Given the description of an element on the screen output the (x, y) to click on. 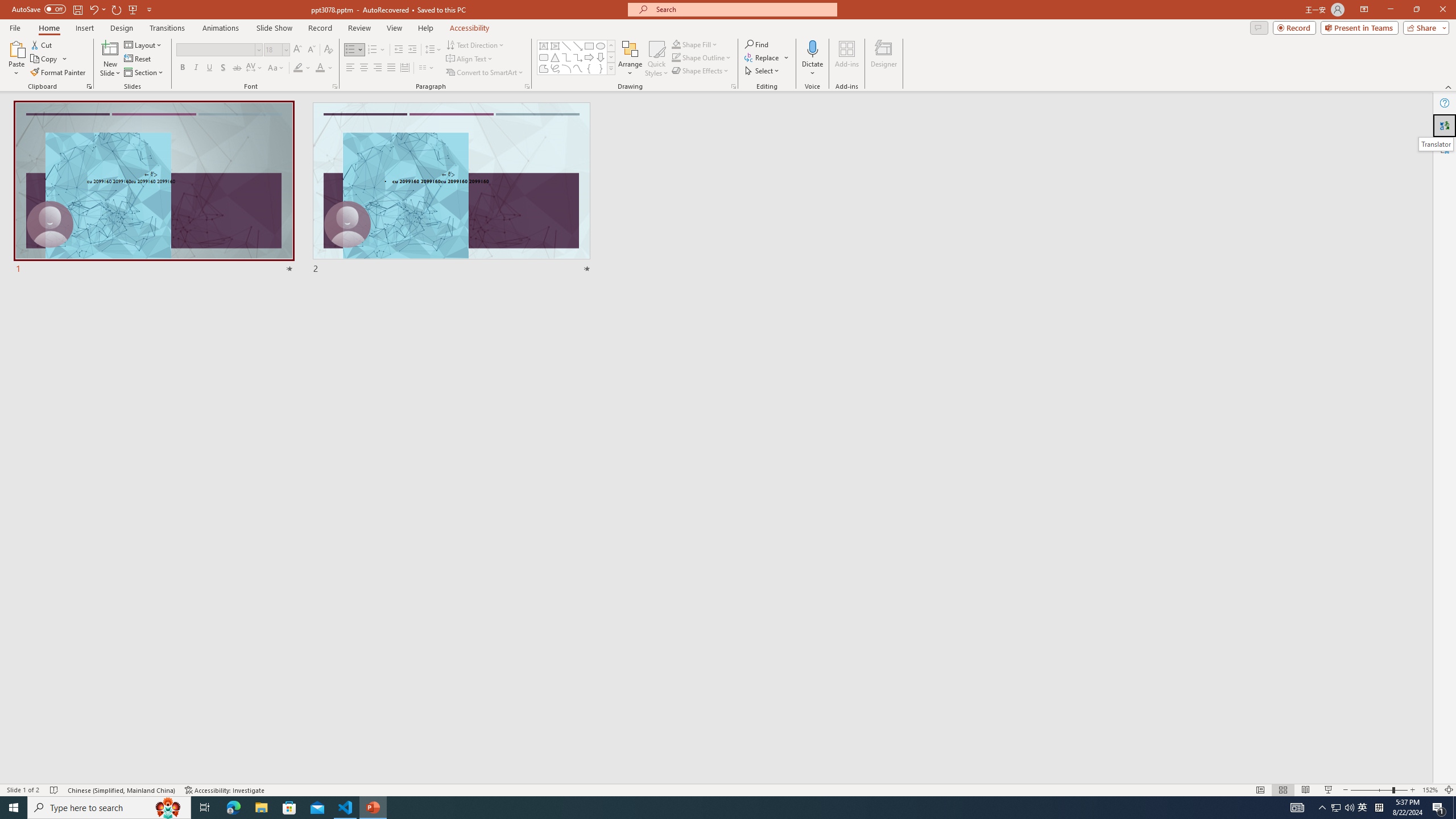
Page 1 content (719, 416)
